Given the description of an element on the screen output the (x, y) to click on. 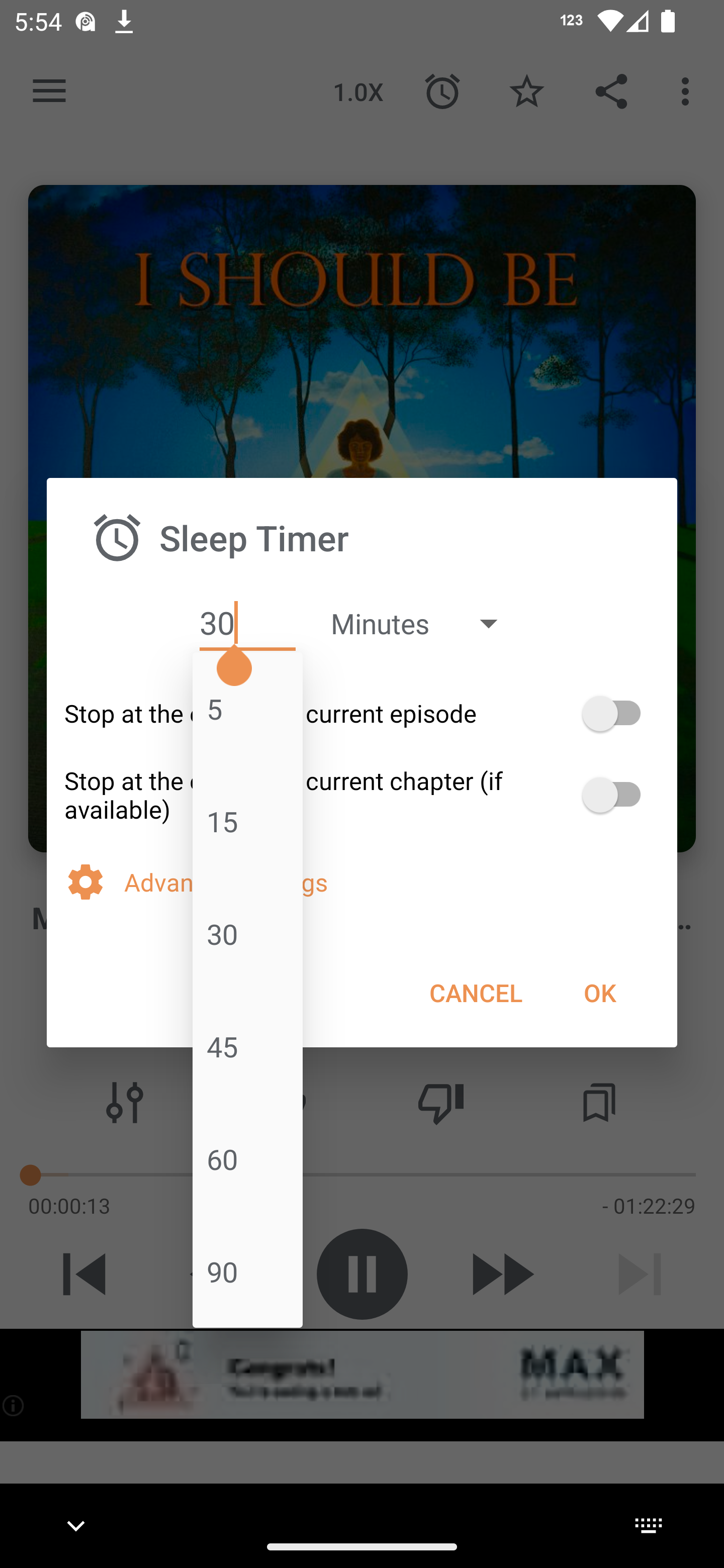
30 (247, 623)
Minutes (423, 623)
Stop at the end of the current episode (361, 712)
Advanced settings (391, 881)
CANCEL (475, 992)
OK (599, 992)
